Given the description of an element on the screen output the (x, y) to click on. 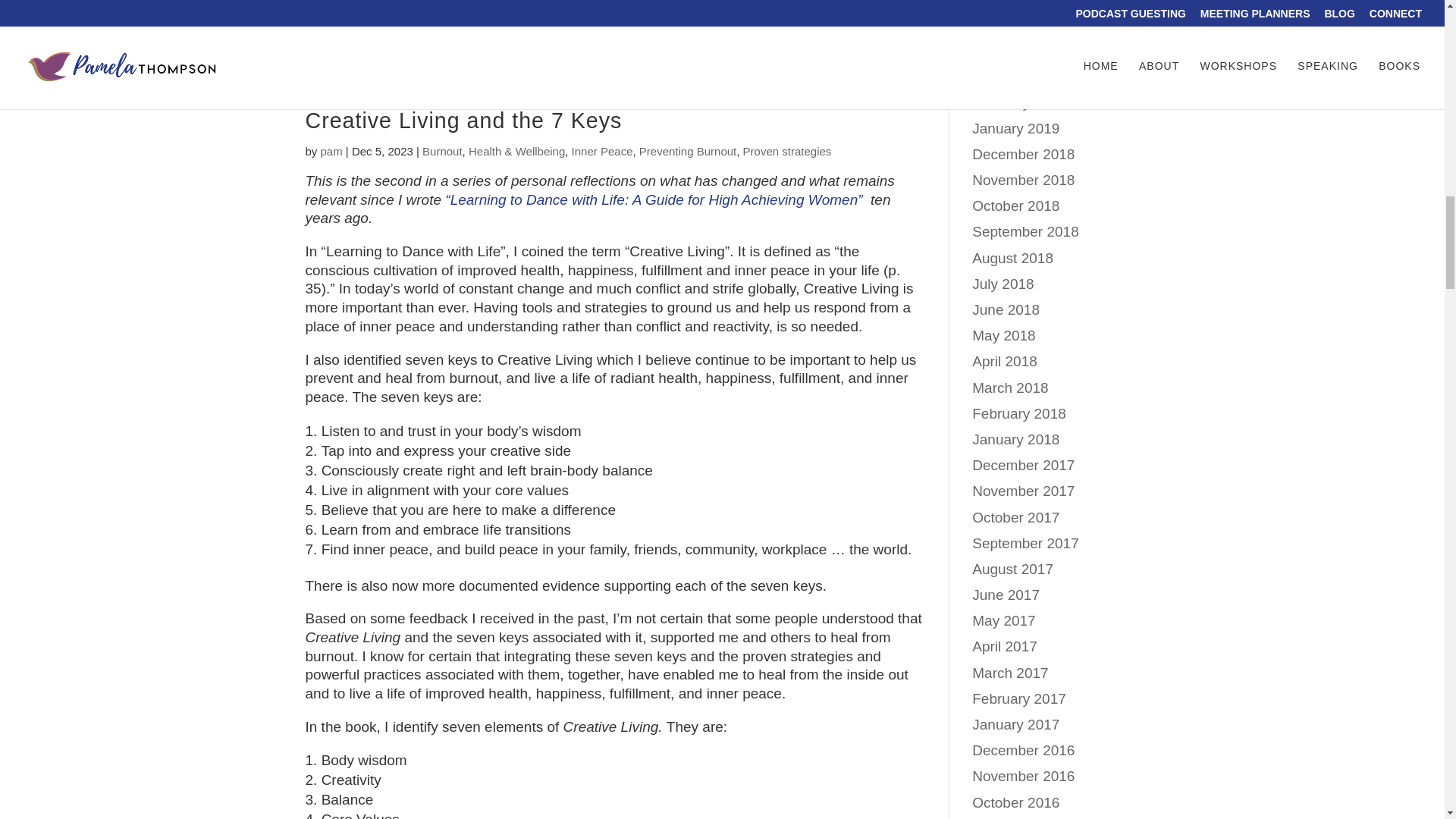
Creative Living and the 7 Keys (462, 120)
pam (331, 151)
Burnout (442, 151)
Inner Peace (602, 151)
Proven strategies (786, 151)
Posts by pam (331, 151)
Preventing Burnout (687, 151)
